Given the description of an element on the screen output the (x, y) to click on. 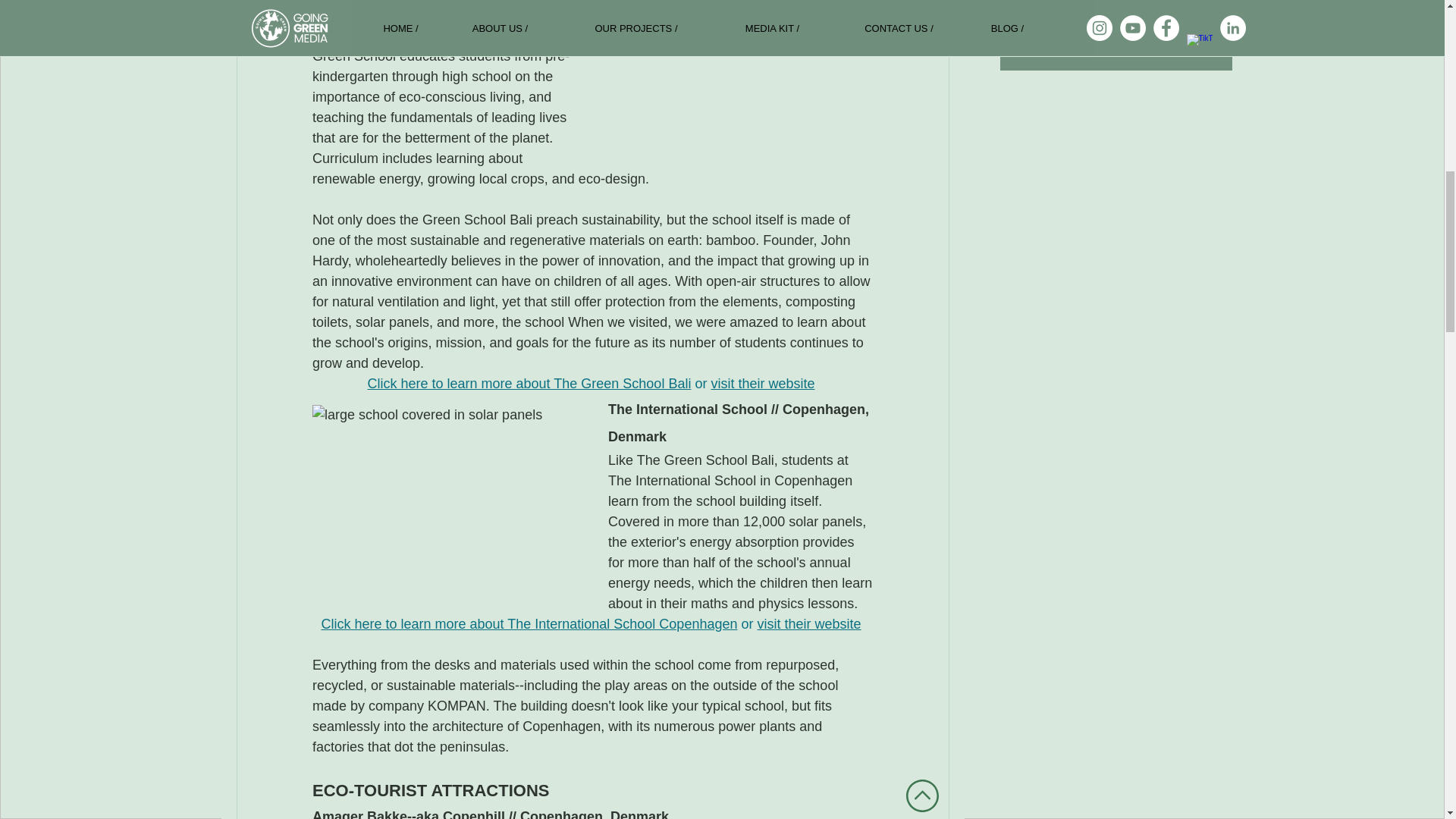
visit their website (808, 623)
Nov 3, 2023 (1056, 12)
visit their website (761, 383)
Click here to learn more about The Green School Bali (528, 383)
